Given the description of an element on the screen output the (x, y) to click on. 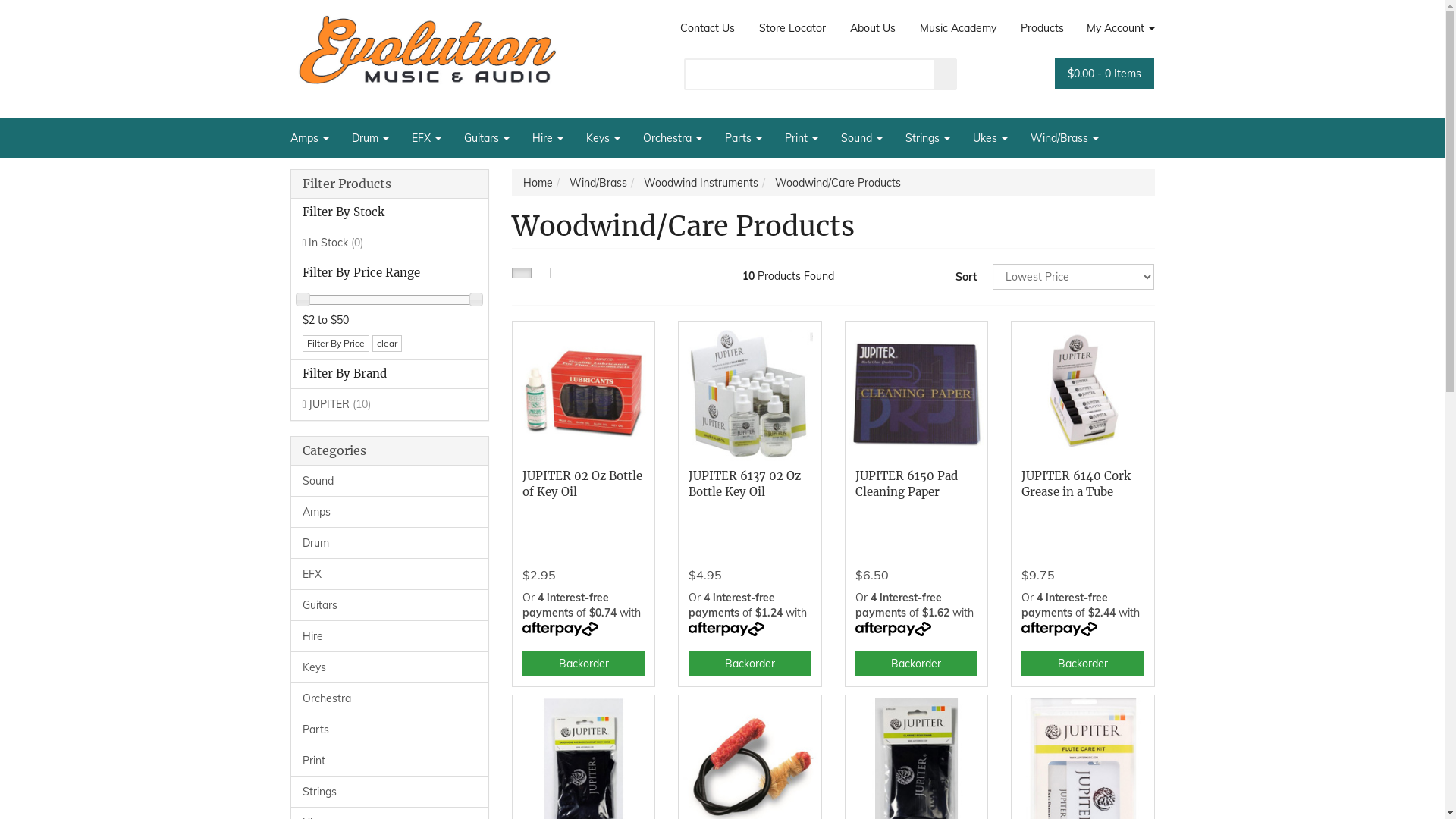
JUPITER 6150 Pad Cleaning Paper Element type: text (906, 483)
$0.00 - 0 Items Element type: text (1104, 73)
Contact Us Element type: text (707, 27)
Hire Element type: text (547, 137)
Evolution Music  Element type: hover (425, 49)
Keys Element type: text (602, 137)
Backorder Element type: text (583, 663)
JUPITER 6140 Cork Grease in a Tube Element type: text (1075, 483)
Keys Element type: text (390, 667)
Sound Element type: text (390, 480)
Guitars Element type: text (390, 605)
JUPITER 6137 02 Oz Bottle Key Oil Element type: text (744, 483)
Wind/Brass Element type: text (598, 182)
Store Locator Element type: text (792, 27)
Orchestra Element type: text (671, 137)
About Us Element type: text (872, 27)
Backorder Element type: text (916, 663)
Drum Element type: text (390, 542)
Orchestra Element type: text (390, 698)
Parts Element type: text (390, 729)
Print Element type: text (801, 137)
Strings Element type: text (926, 137)
EFX Element type: text (426, 137)
Wind/Brass Element type: text (1064, 137)
JUPITER (10) Element type: text (390, 404)
Filter Products Element type: text (388, 184)
Backorder Element type: text (1082, 663)
Backorder Element type: text (749, 663)
Music Academy Element type: text (957, 27)
In Stock (0) Element type: text (390, 242)
Woodwind/Care Products Element type: text (837, 182)
Sound Element type: text (861, 137)
Guitars Element type: text (485, 137)
EFX Element type: text (390, 573)
My Account Element type: text (1114, 27)
Print Element type: text (390, 760)
JUPITER 02 Oz Bottle of Key Oil Element type: text (582, 483)
Filter By Price Element type: text (334, 343)
Amps Element type: text (314, 137)
Hire Element type: text (390, 636)
Home Element type: text (537, 182)
Parts Element type: text (742, 137)
Products Element type: text (1041, 27)
clear Element type: text (386, 343)
Search Element type: text (945, 74)
Amps Element type: text (390, 511)
Drum Element type: text (369, 137)
Ukes Element type: text (990, 137)
Strings Element type: text (390, 791)
Woodwind Instruments Element type: text (700, 182)
